Given the description of an element on the screen output the (x, y) to click on. 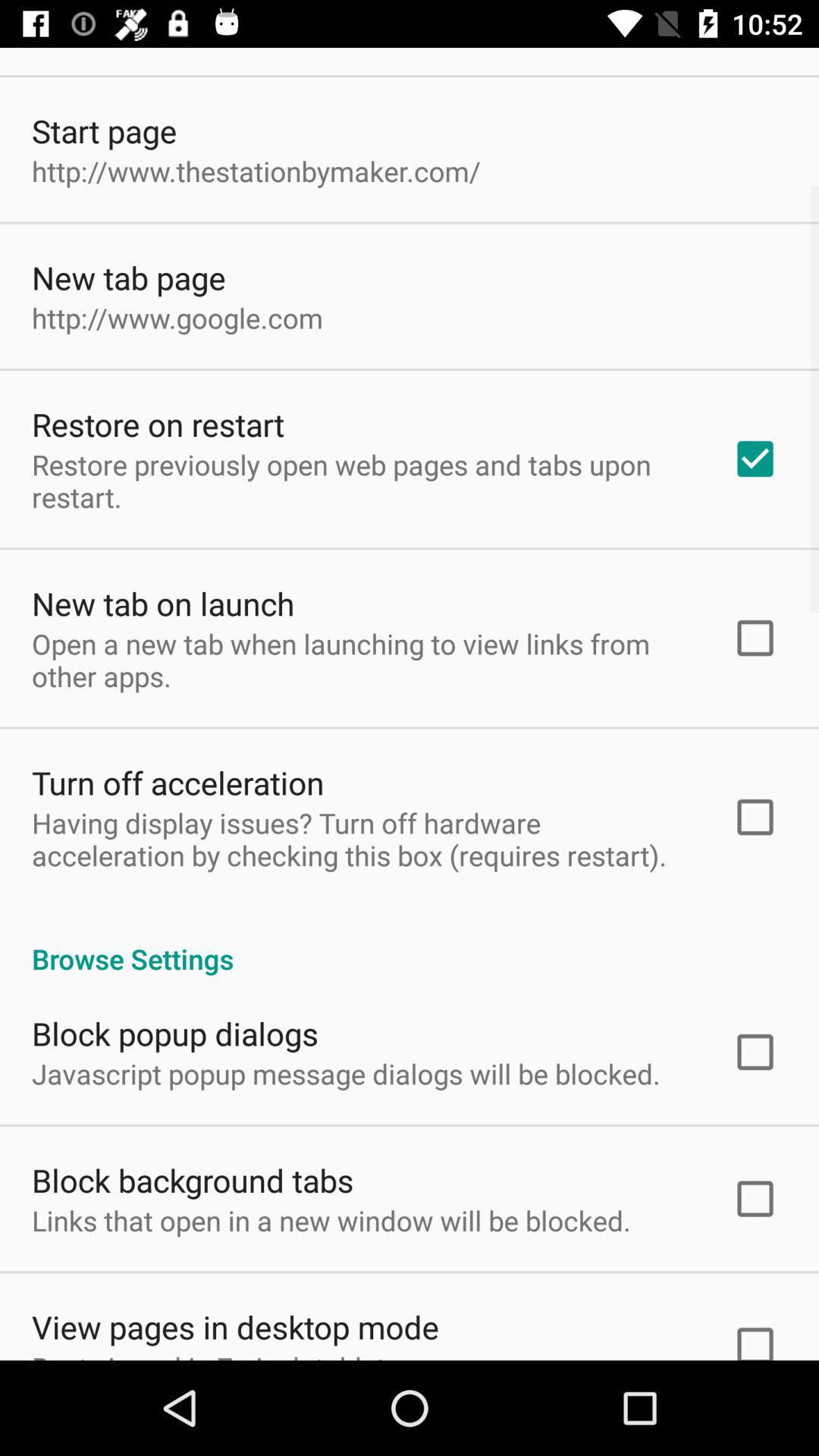
choose the app above the best viewed in icon (235, 1326)
